Given the description of an element on the screen output the (x, y) to click on. 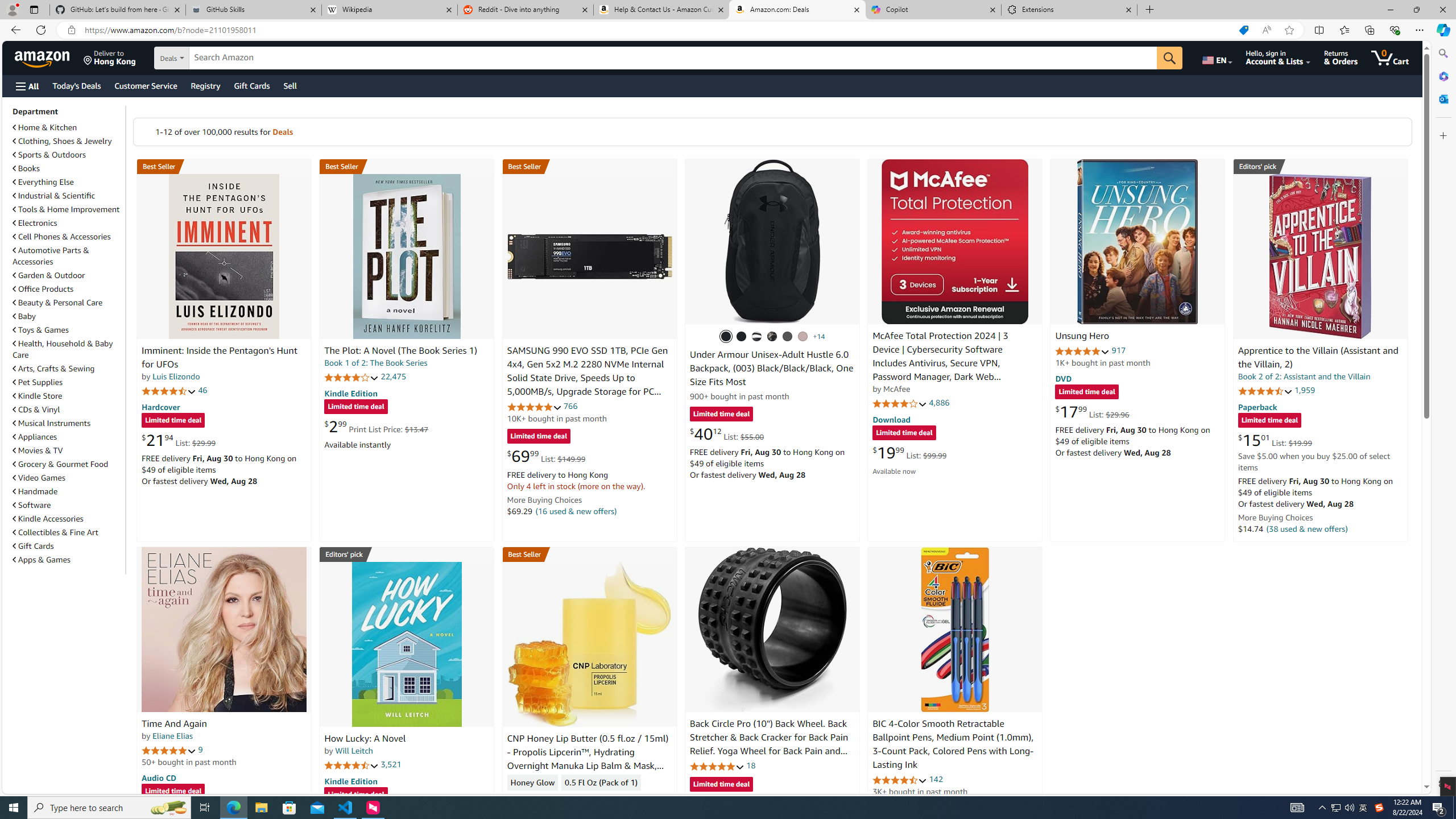
Customer Service (145, 85)
Apps & Games (67, 559)
Unsung Hero (1137, 241)
Kindle Store (37, 395)
Browser essentials (1394, 29)
Grocery & Gourmet Food (61, 463)
(005) Black Full Heather / Black / Metallic Gold (788, 336)
Minimize (1390, 9)
Software (31, 504)
Garden & Outdoor (49, 275)
Toys & Games (67, 329)
Returns & Orders (1340, 57)
Close tab (1129, 9)
The Plot: A Novel (The Book Series 1) (400, 351)
Customize (1442, 135)
